Given the description of an element on the screen output the (x, y) to click on. 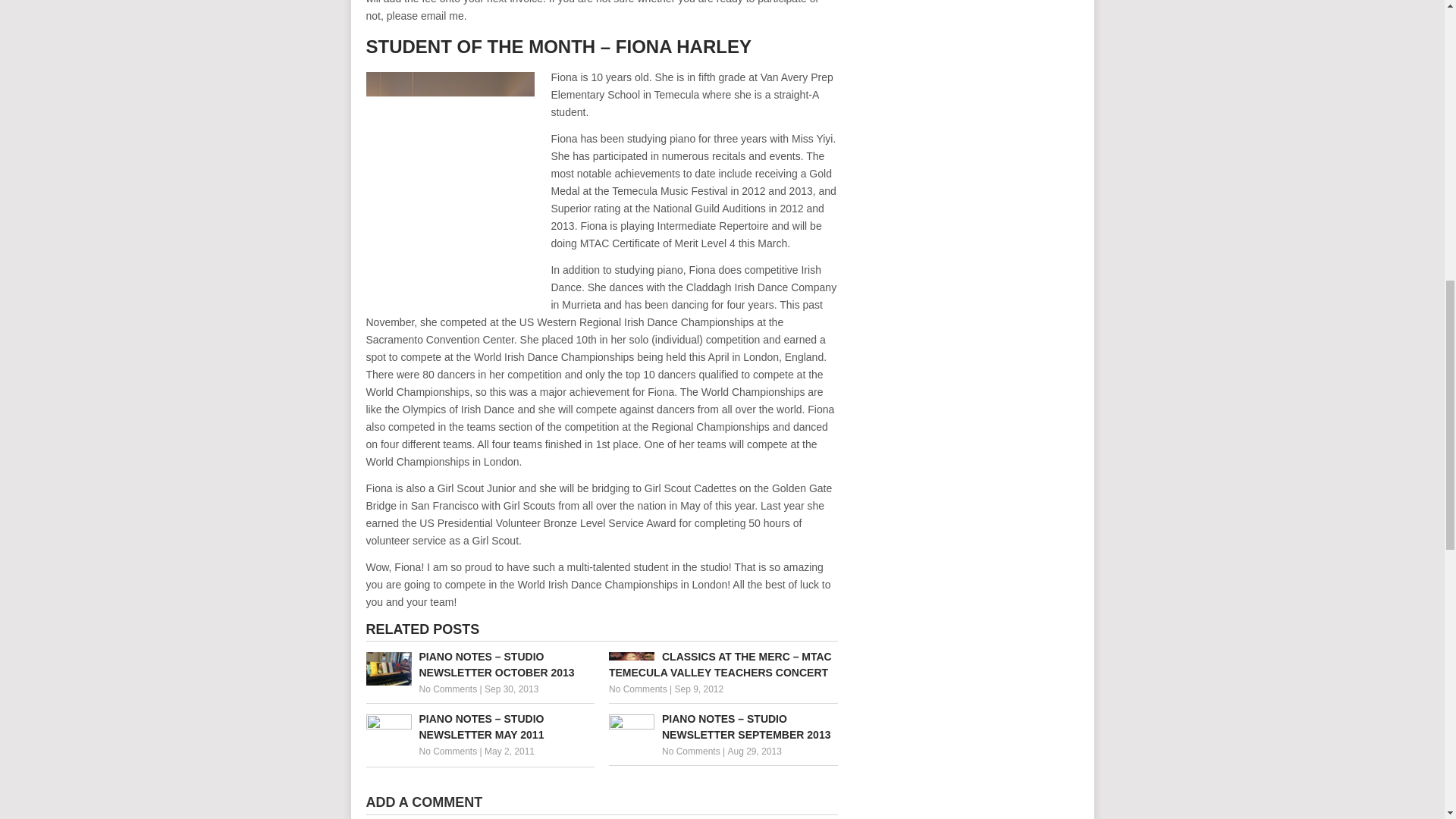
No Comments (448, 751)
No Comments (448, 688)
No Comments (691, 751)
No Comments (637, 688)
